Given the description of an element on the screen output the (x, y) to click on. 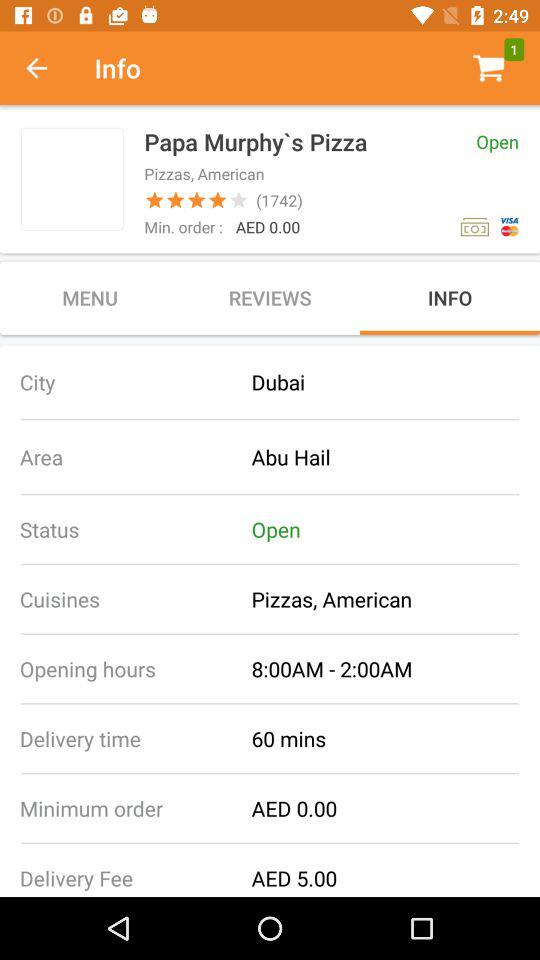
click on cart (488, 67)
